Given the description of an element on the screen output the (x, y) to click on. 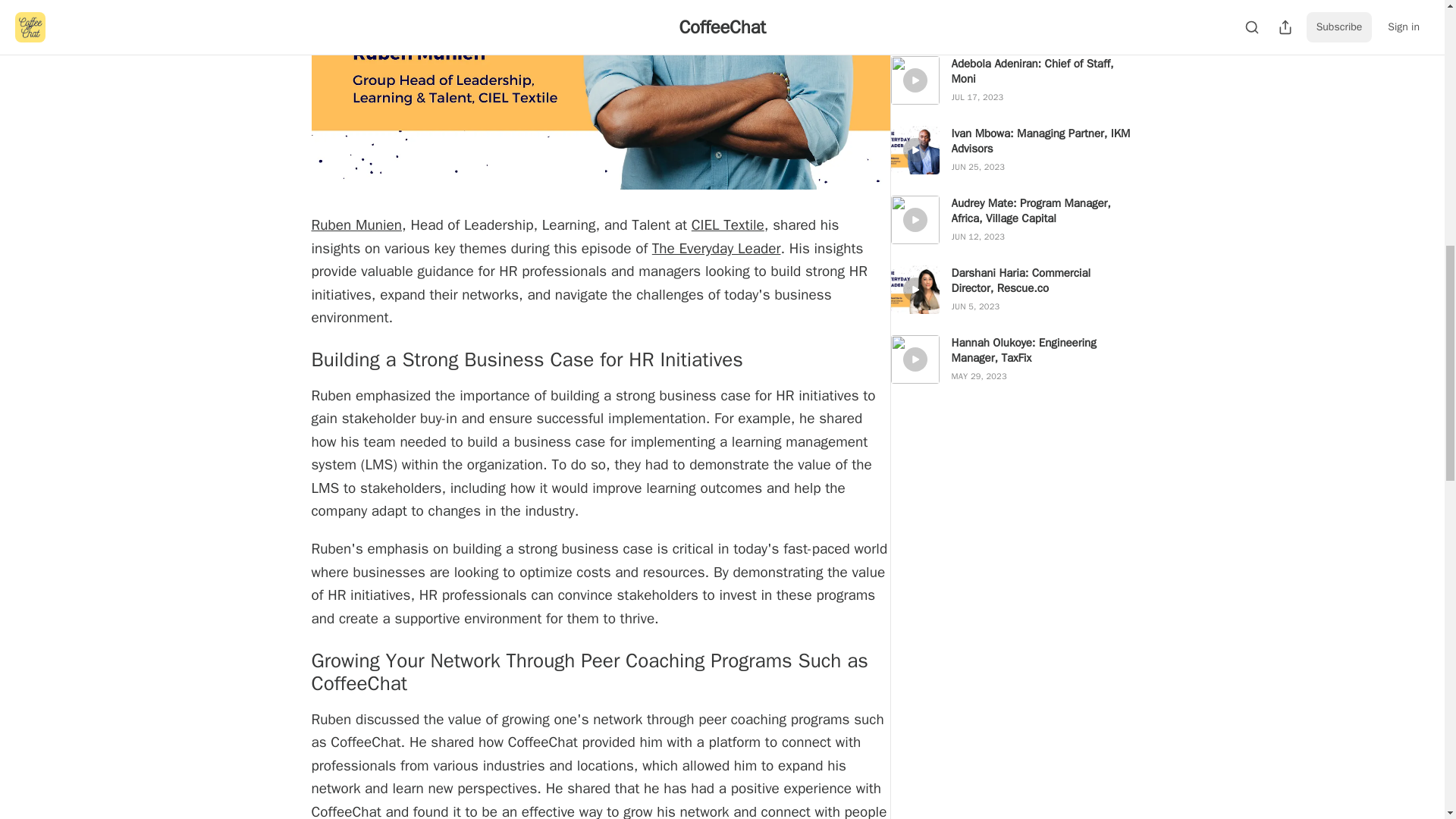
The Everyday Leader (716, 248)
CIEL Textile (727, 225)
Ruben Munien (356, 225)
